Given the description of an element on the screen output the (x, y) to click on. 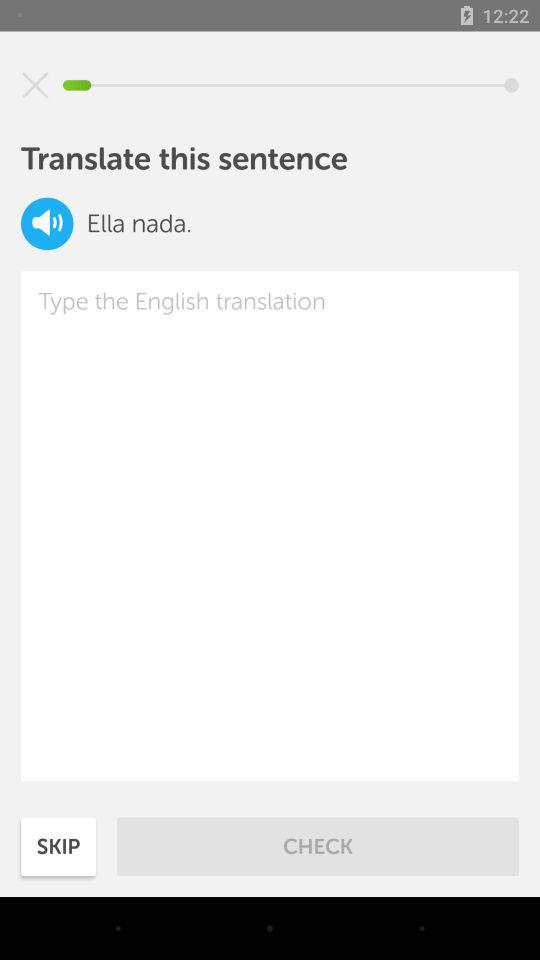
text entry field (270, 526)
